Given the description of an element on the screen output the (x, y) to click on. 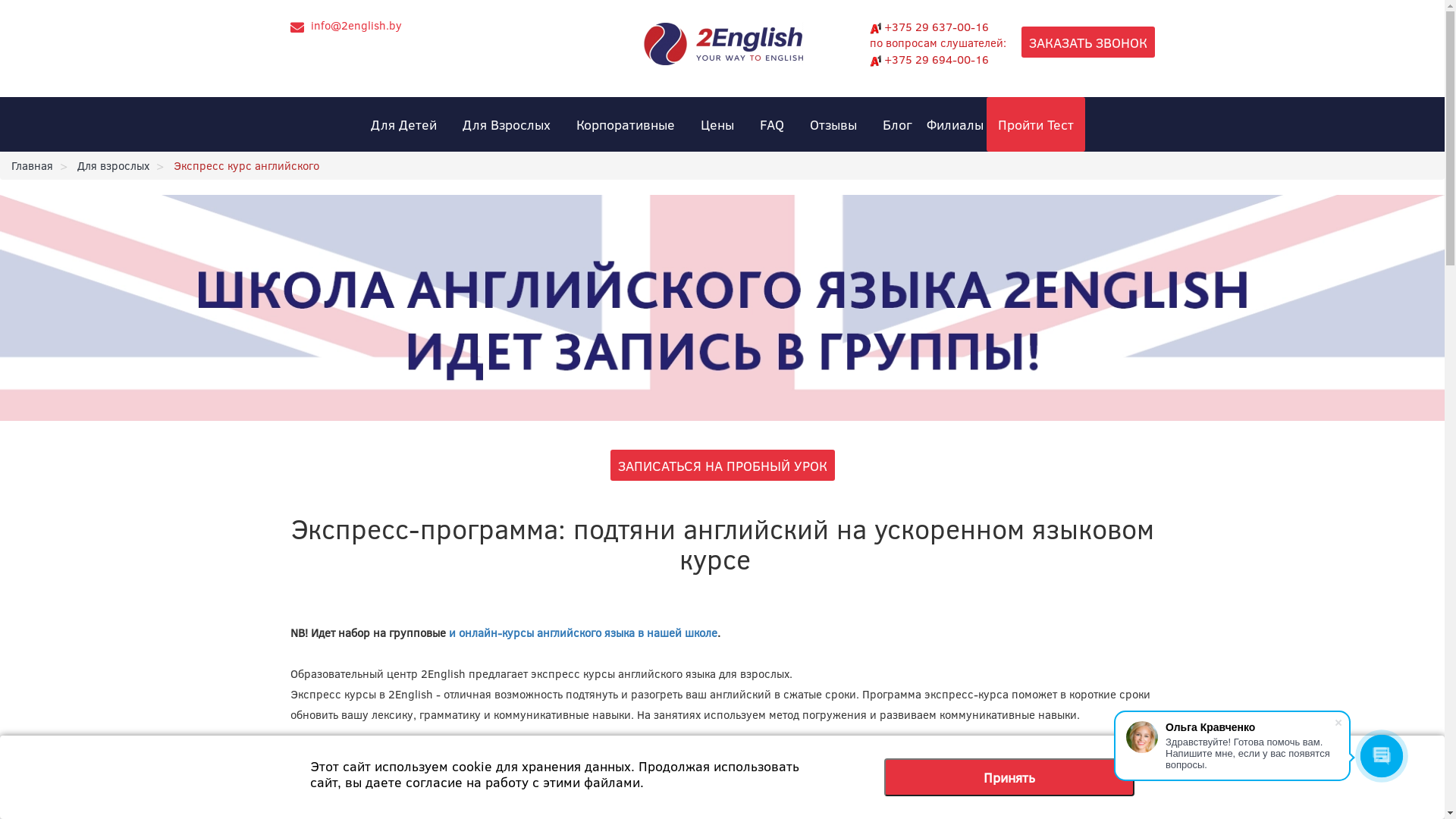
FAQ Element type: text (771, 124)
info@2english.by Element type: text (355, 24)
+375 29 637-00-16 Element type: text (928, 26)
